Given the description of an element on the screen output the (x, y) to click on. 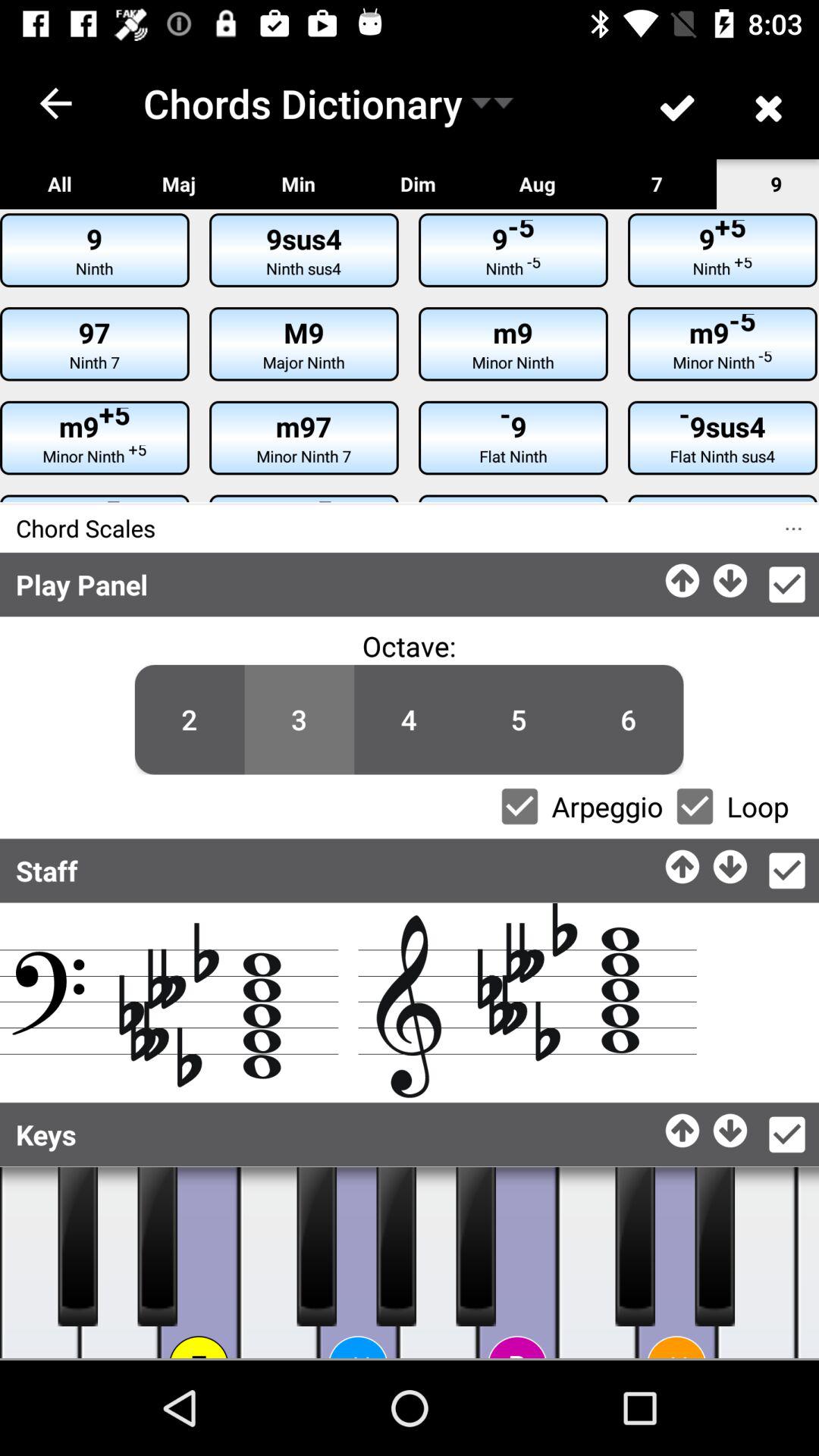
toggle keys dropdown (787, 1134)
